Given the description of an element on the screen output the (x, y) to click on. 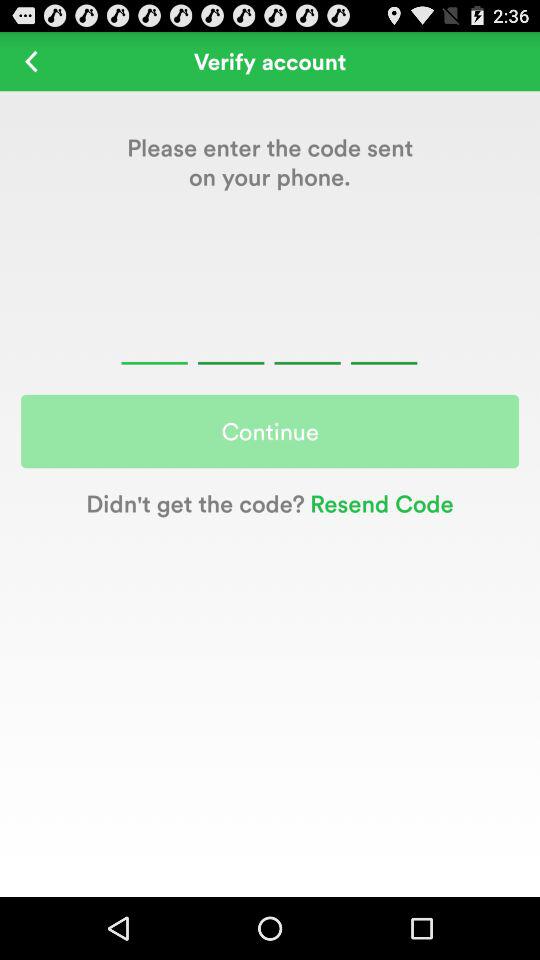
turn on resend code icon (378, 502)
